Given the description of an element on the screen output the (x, y) to click on. 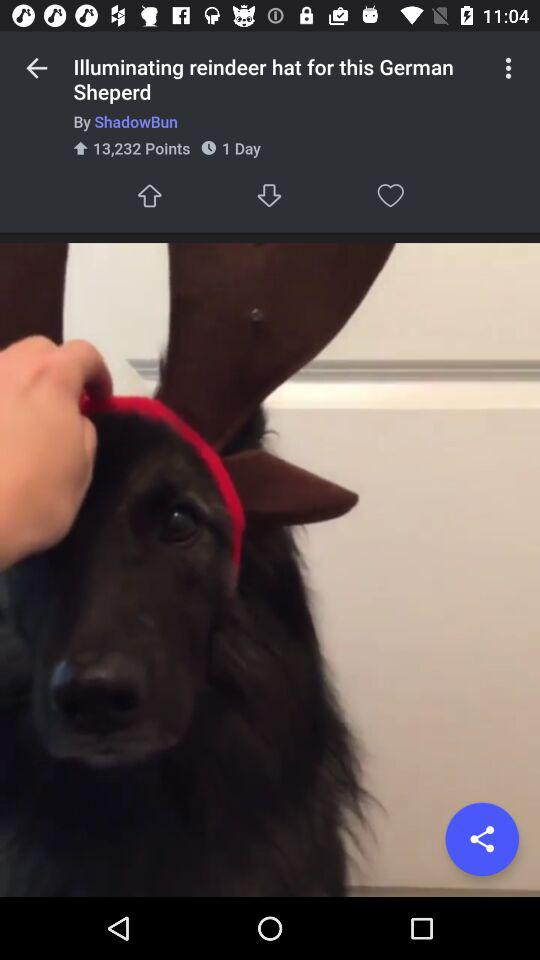
click the icon to the left of the illuminating reindeer hat item (36, 68)
